Given the description of an element on the screen output the (x, y) to click on. 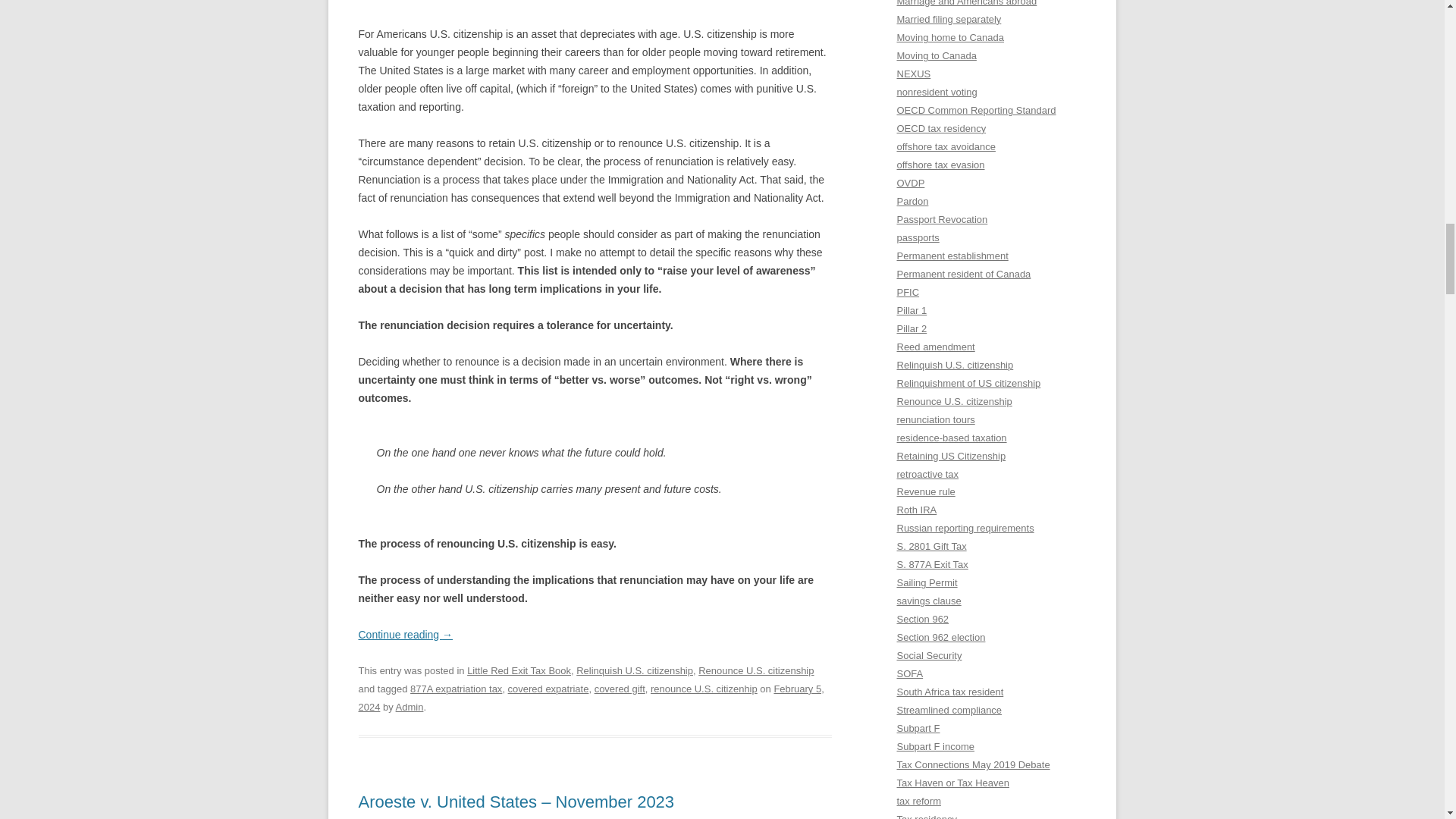
11:19 am (591, 697)
View all posts by Admin (409, 706)
